Given the description of an element on the screen output the (x, y) to click on. 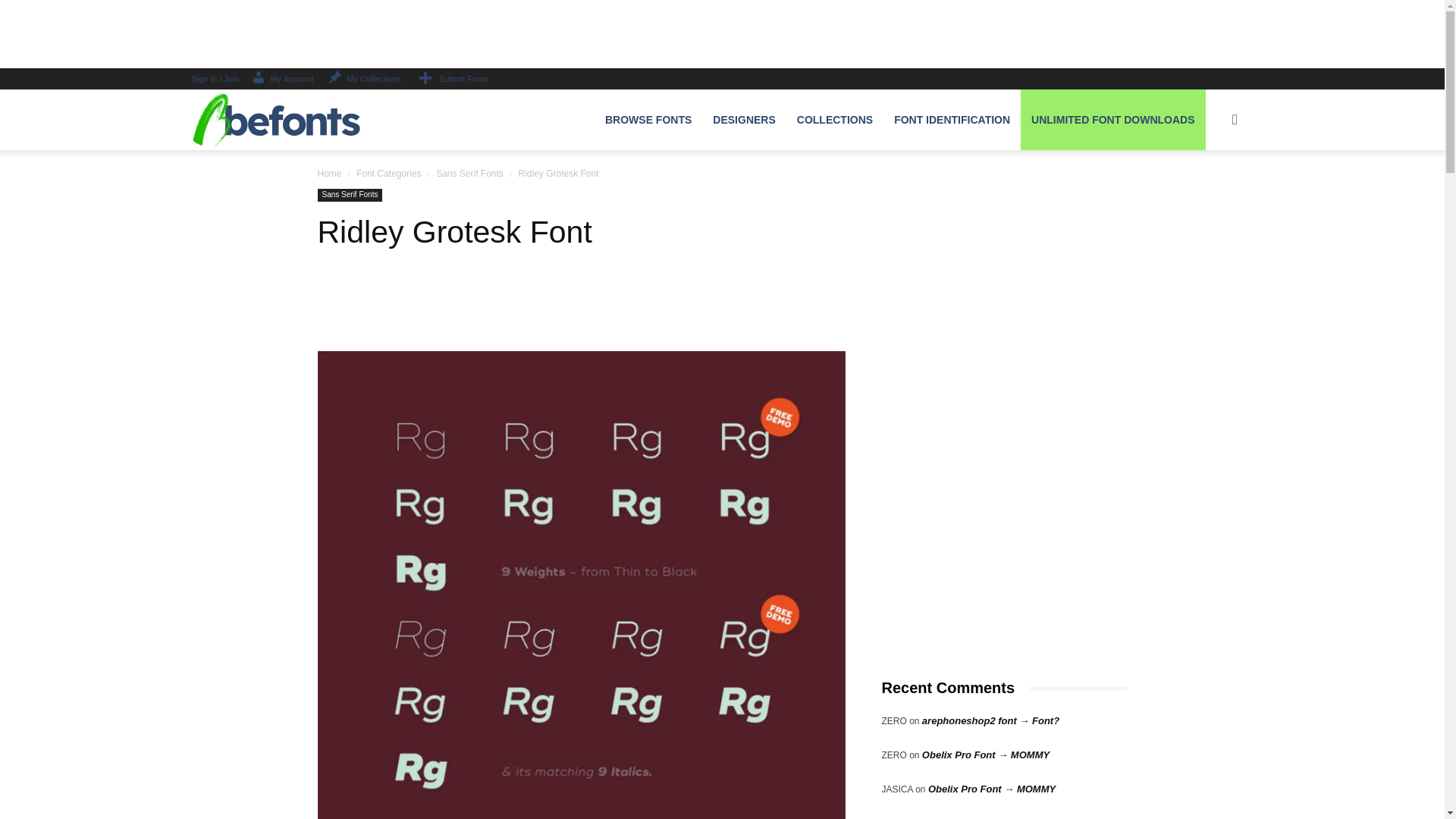
Font Designers (743, 119)
View all posts in Font Categories (388, 173)
Font Collections (834, 119)
Font identification (951, 119)
All Font Categories (647, 119)
View all posts in Sans Serif Fonts (469, 173)
